Given the description of an element on the screen output the (x, y) to click on. 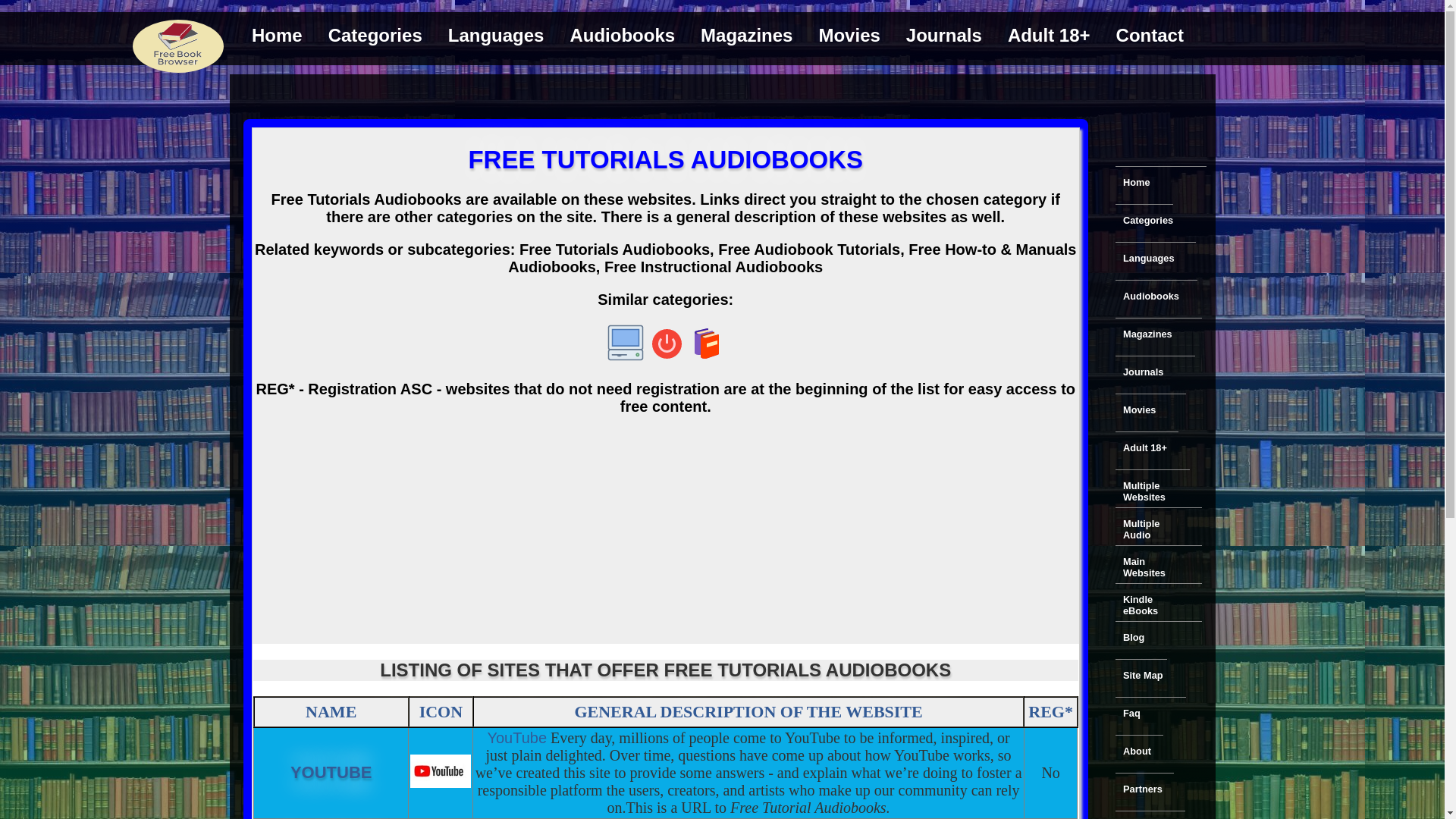
Magazines (1147, 334)
Audiobooks (622, 35)
YouTube (440, 770)
YouTube (516, 737)
Categories (374, 35)
Journals (1142, 371)
Advertisement (721, 94)
Contact (1149, 35)
Movies (848, 35)
Home (277, 35)
Journals (943, 35)
Languages (1148, 257)
Categories (1147, 220)
Movies (1139, 409)
